Given the description of an element on the screen output the (x, y) to click on. 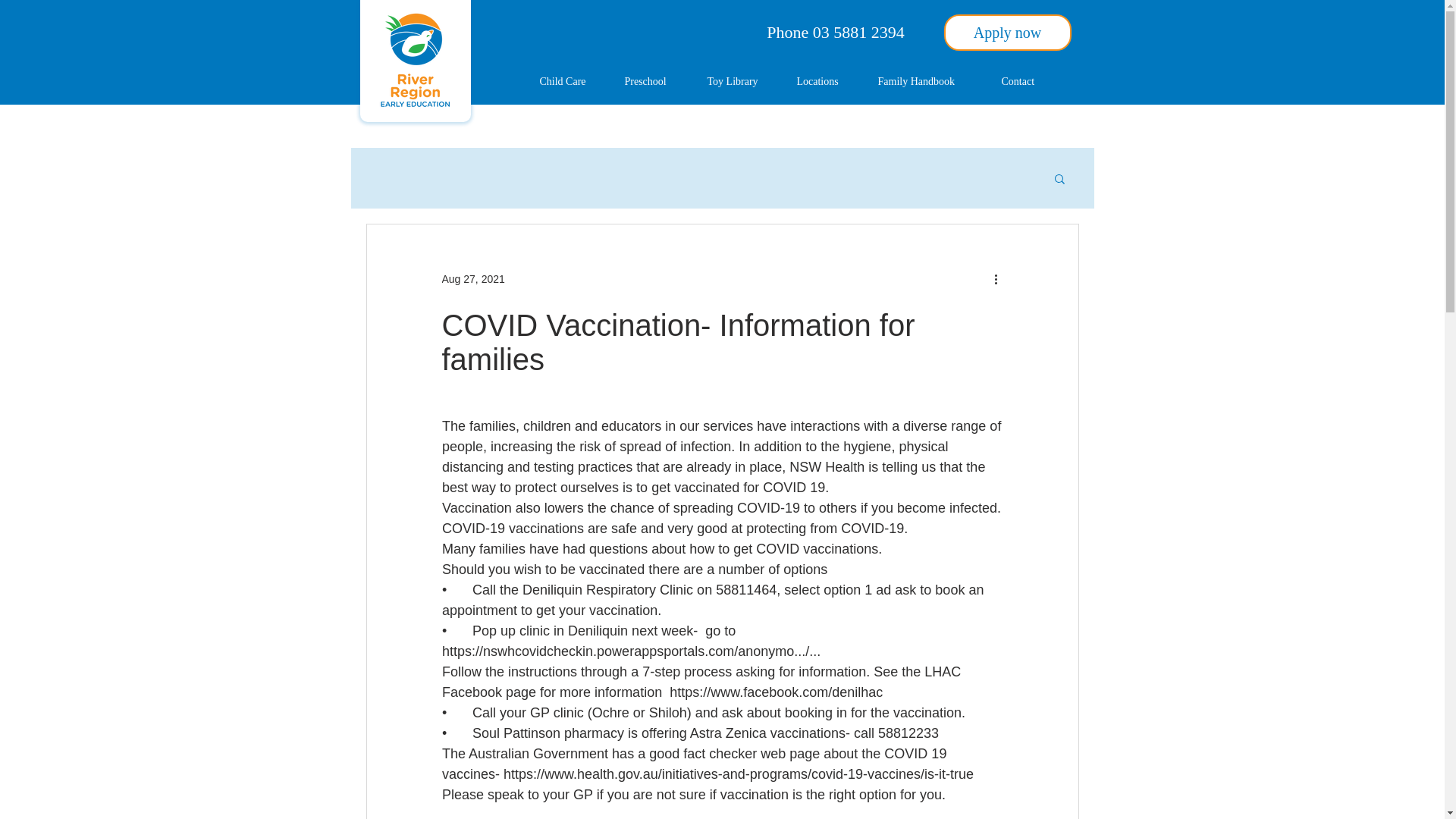
Aug 27, 2021 (472, 278)
Child Care (569, 81)
Locations (826, 81)
Preschool (653, 81)
Apply now (1006, 32)
Contact (1026, 81)
Family Handbook (928, 81)
Toy Library (740, 81)
Phone 03 5881 2394 (835, 31)
